Given the description of an element on the screen output the (x, y) to click on. 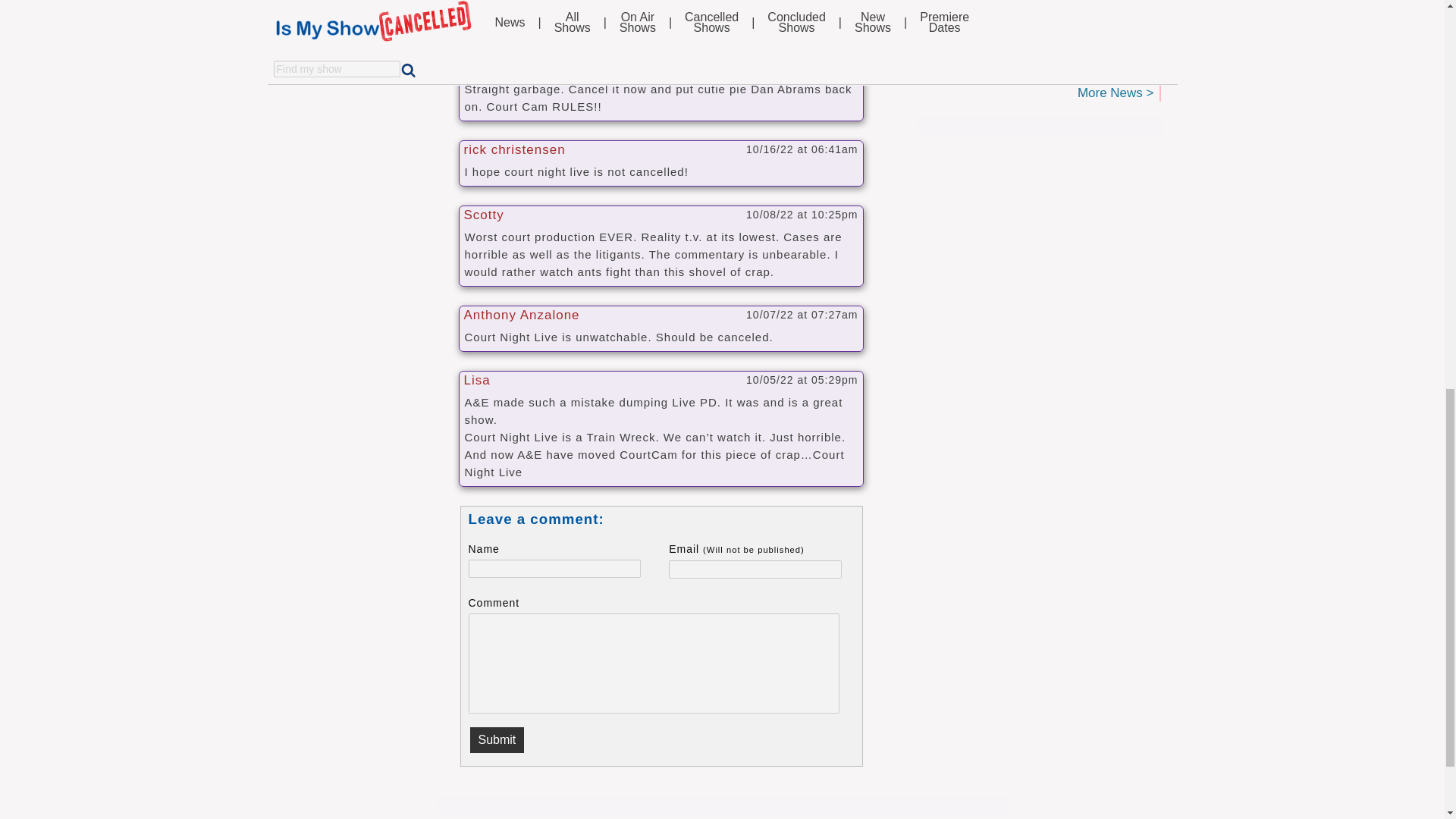
Submit (497, 739)
Submit (497, 739)
